Given the description of an element on the screen output the (x, y) to click on. 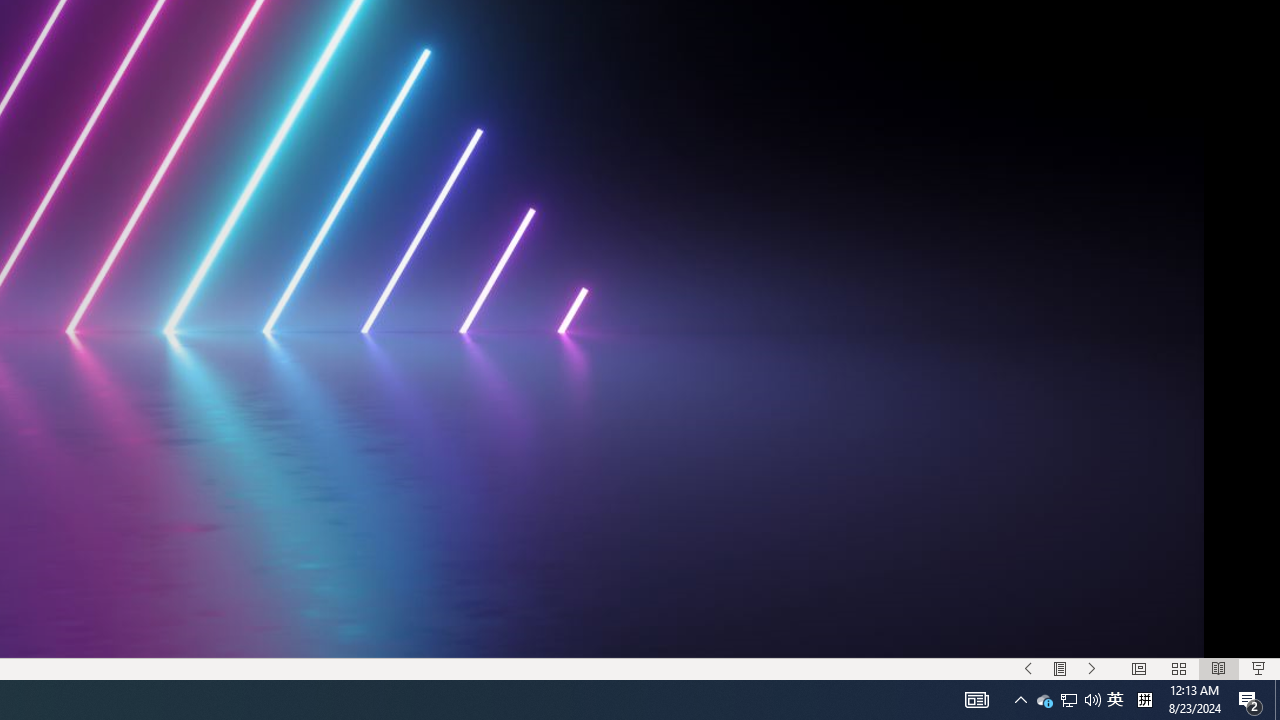
Slide Show Previous On (1028, 668)
Menu On (1060, 668)
Slide Show Next On (1092, 668)
